Given the description of an element on the screen output the (x, y) to click on. 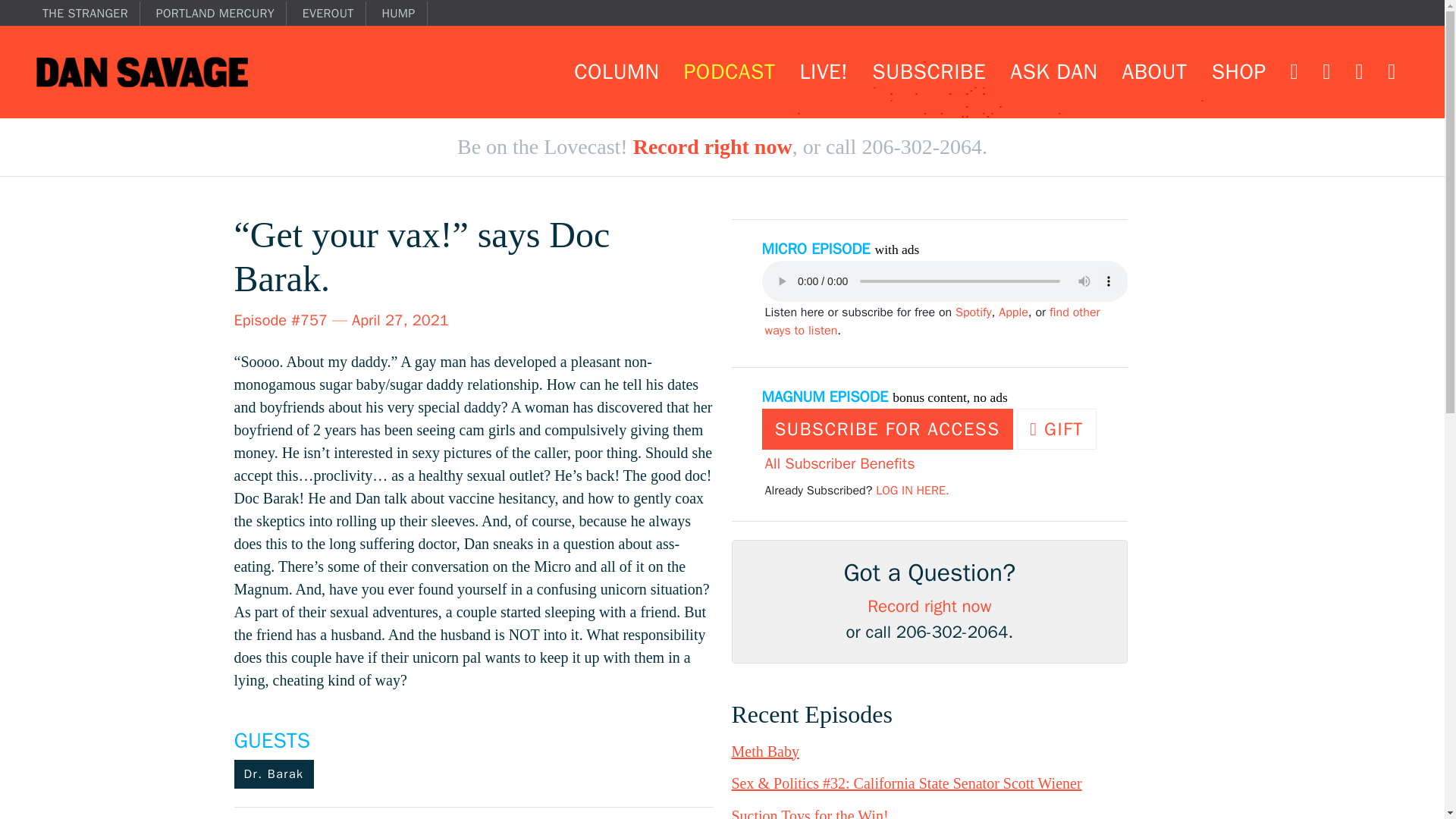
EVEROUT (334, 13)
LIVE! (823, 71)
COLUMN (616, 71)
HUMP (403, 13)
SHOP (1238, 71)
SUBSCRIBE (928, 71)
Portland Mercury (220, 13)
Subscribe (928, 71)
Spotify (973, 312)
About (1153, 71)
